Given the description of an element on the screen output the (x, y) to click on. 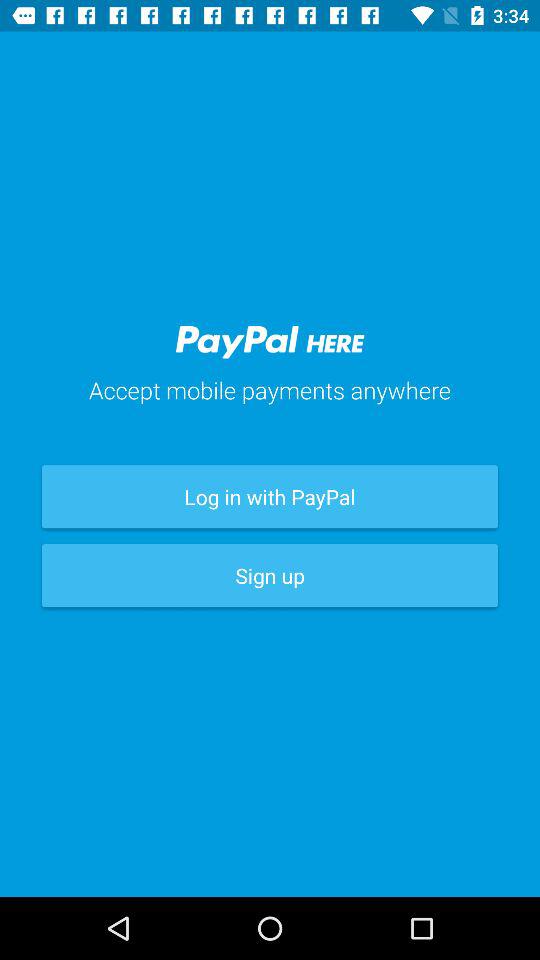
flip until sign up (269, 575)
